Given the description of an element on the screen output the (x, y) to click on. 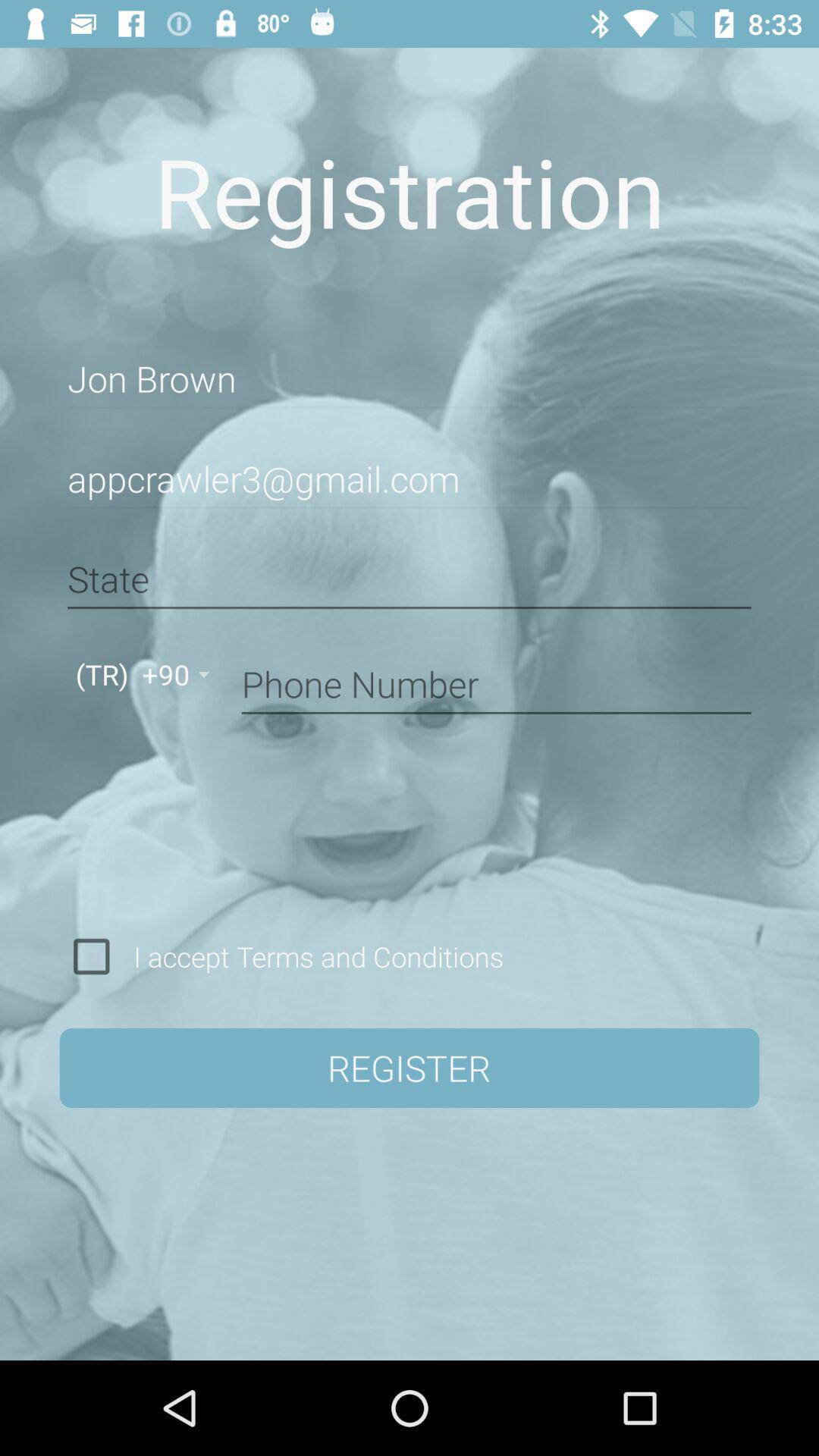
choose item above register item (313, 956)
